Given the description of an element on the screen output the (x, y) to click on. 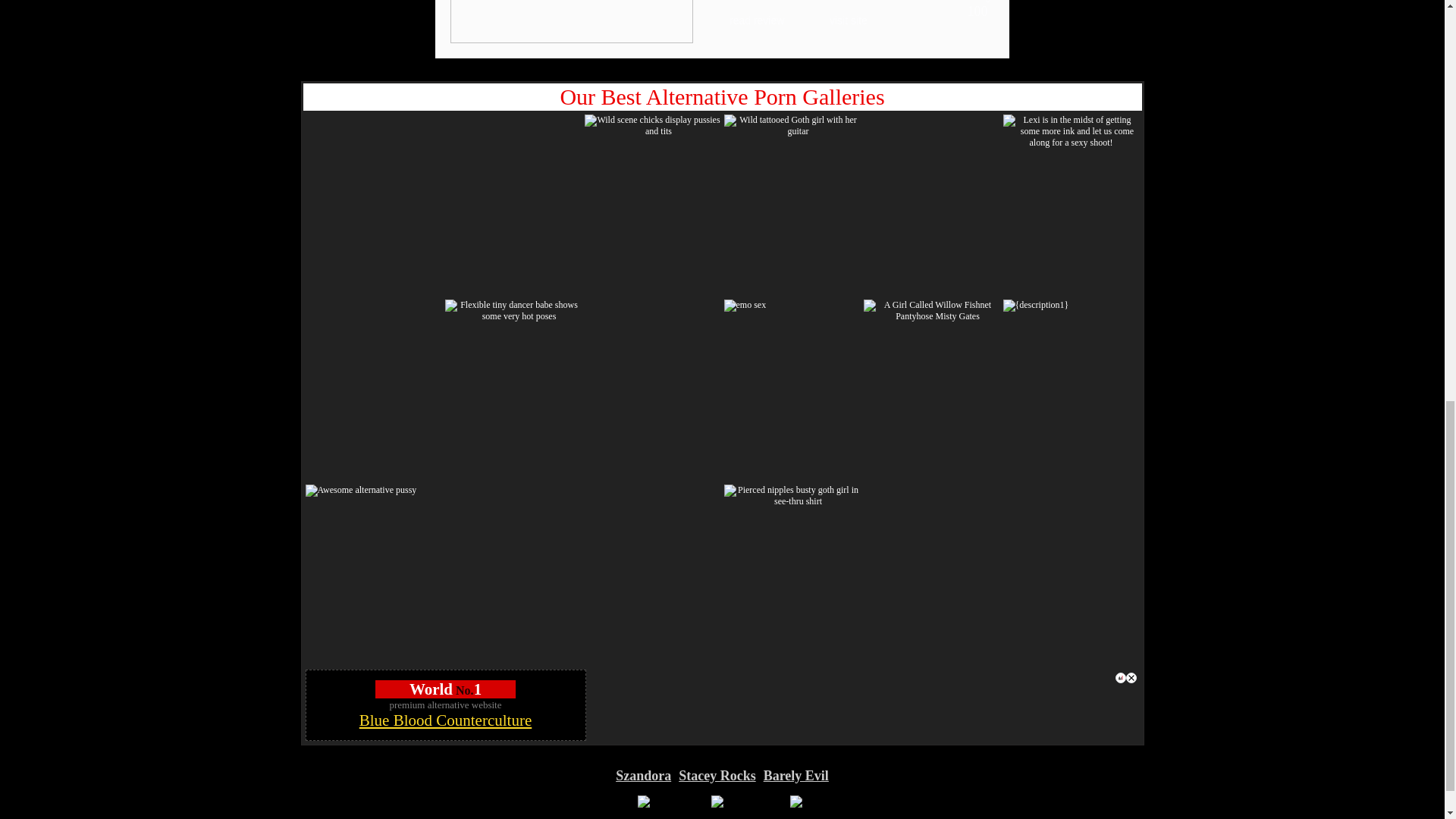
visit site (854, 19)
emo sex (744, 305)
Awesome alternative pussy (360, 490)
Flexible tiny dancer babe shows some very hot poses (512, 310)
Wild tattooed Goth girl with her guitar (791, 125)
Wild scene chicks display pussies and tits (651, 125)
A Girl Called Willow Fishnet Pantyhose Misty Gates (930, 310)
Pierced nipples busty goth girl in see-thru shirt (791, 495)
read review (753, 19)
